Given the description of an element on the screen output the (x, y) to click on. 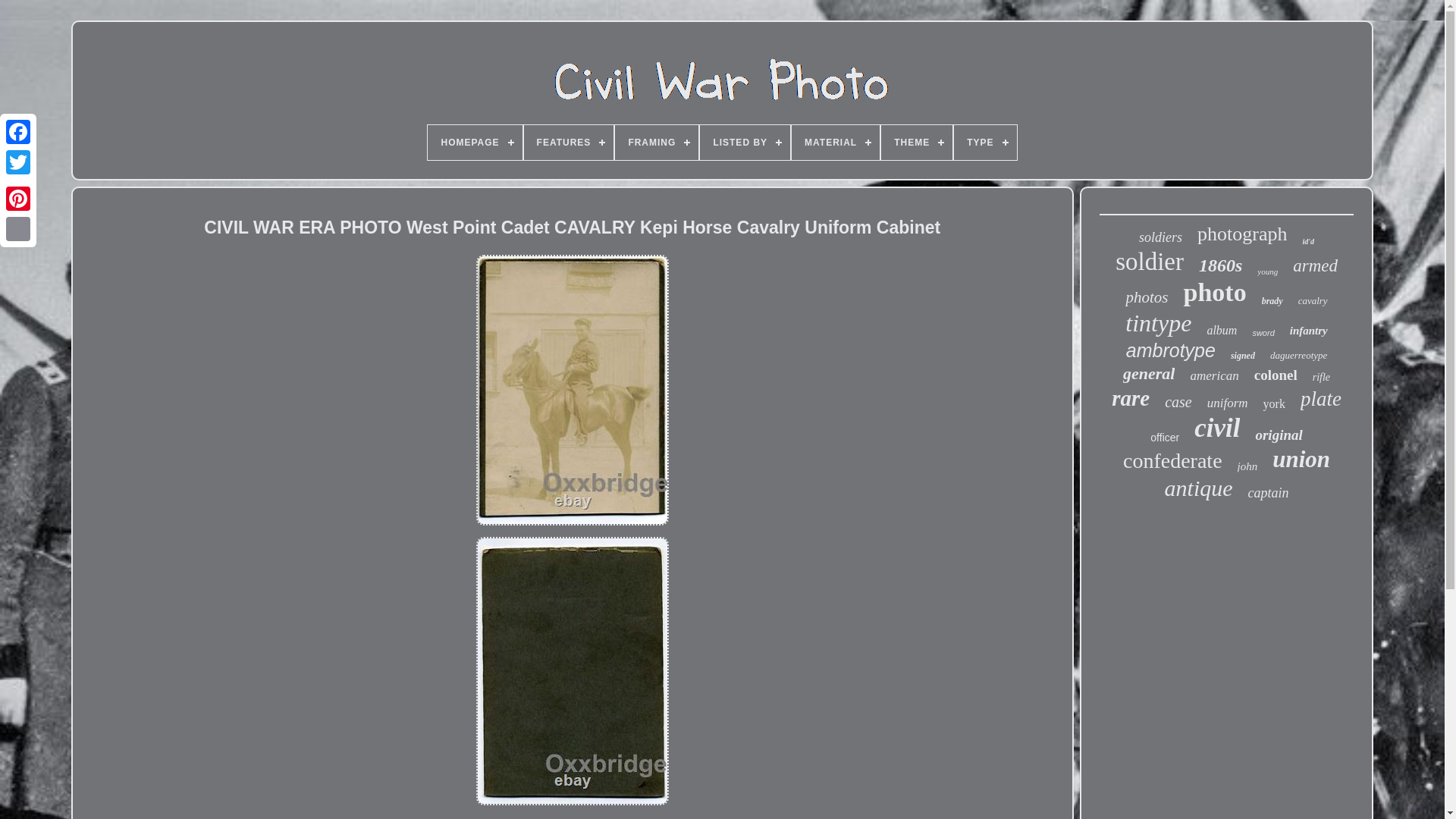
HOMEPAGE (474, 142)
FEATURES (569, 142)
FRAMING (656, 142)
